Given the description of an element on the screen output the (x, y) to click on. 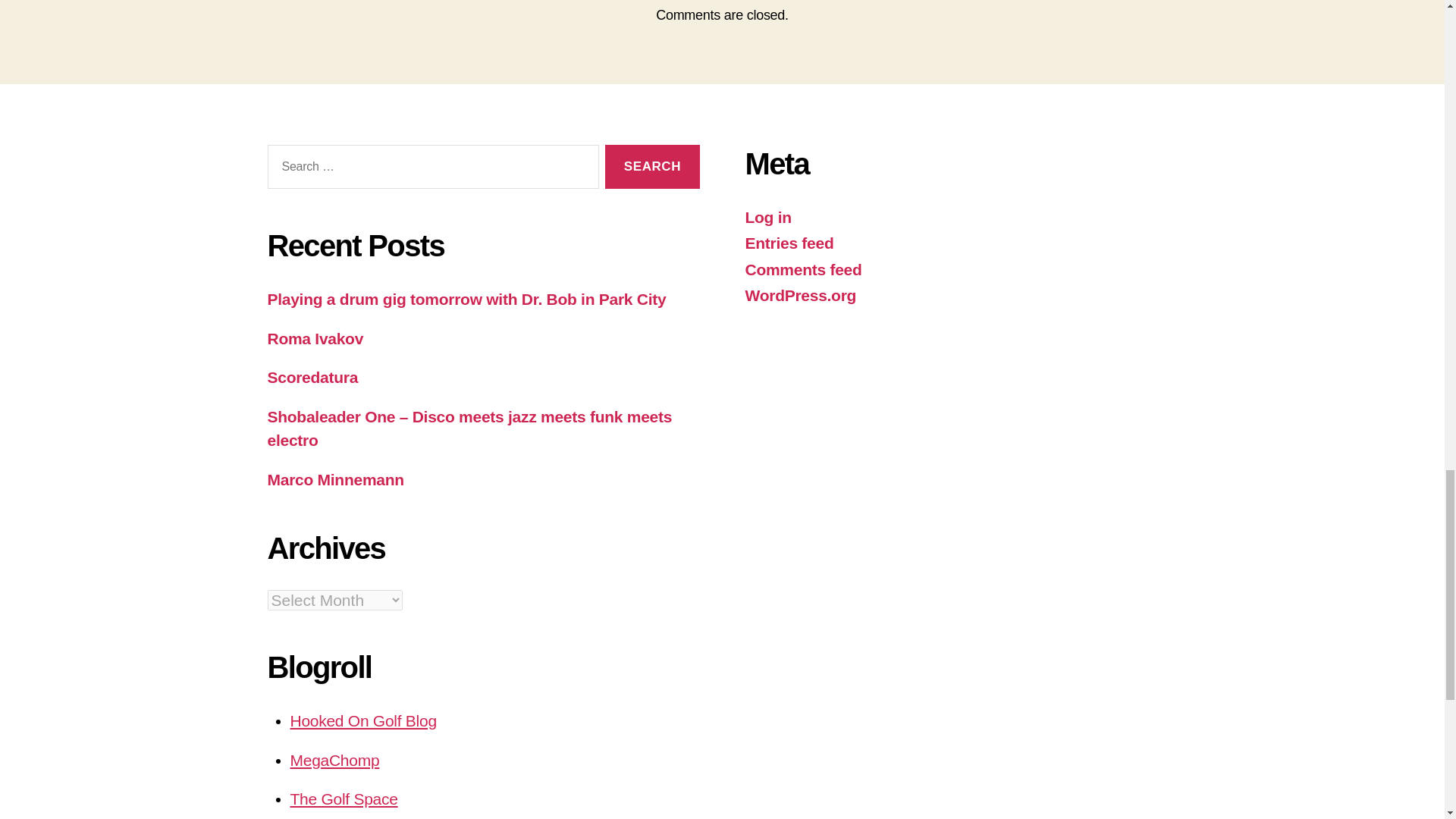
Search (651, 166)
Playing a drum gig tomorrow with Dr. Bob in Park City (465, 298)
Golf Social Netowrking (343, 798)
Food Review Site (333, 760)
Search (651, 166)
Best Golf Blog (362, 720)
Search (651, 166)
